Given the description of an element on the screen output the (x, y) to click on. 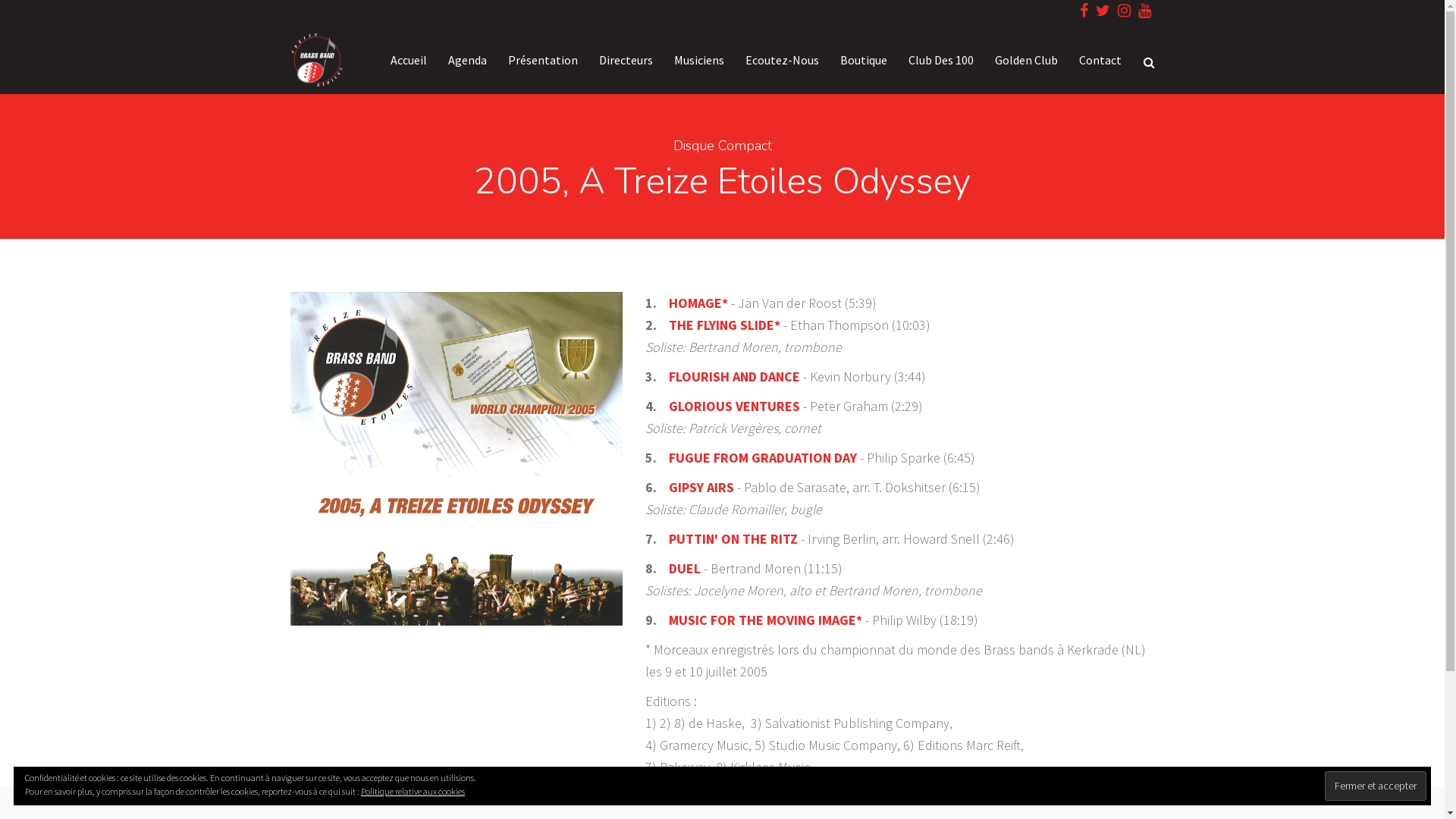
FUGUE FROM GRADUATION DAY Element type: text (762, 457)
Musiciens Element type: text (698, 59)
Club Des 100 Element type: text (940, 59)
Agenda Element type: text (466, 59)
Contact Element type: text (1093, 59)
GIPSY AIRS Element type: text (701, 486)
Golden Club Element type: text (1026, 59)
Politique relative aux cookies Element type: text (412, 791)
Directeurs Element type: text (625, 59)
PUTTIN' ON THE RITZ Element type: text (732, 538)
Fermer et accepter Element type: text (1375, 785)
Boutique Element type: text (863, 59)
Ecoutez-Nous Element type: text (781, 59)
FLOURISH AND DANCE Element type: text (734, 376)
Accueil Element type: text (407, 59)
DUEL Element type: text (684, 568)
GLORIOUS VENTURES Element type: text (734, 405)
MUSIC FOR THE MOVING IMAGE* Element type: text (765, 619)
HOMAGE* Element type: text (699, 302)
THE FLYING SLIDE* Element type: text (724, 324)
